Given the description of an element on the screen output the (x, y) to click on. 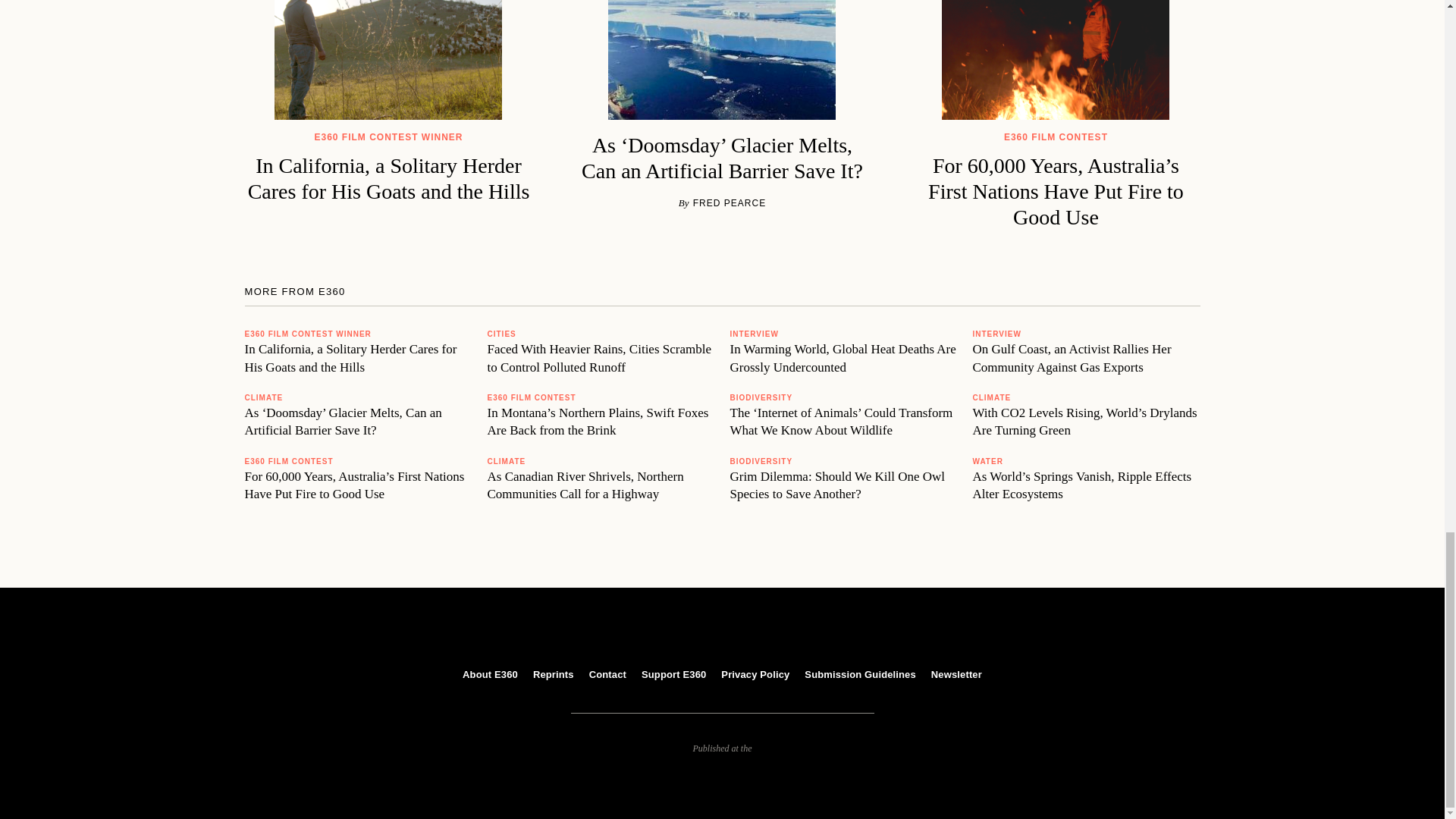
BIODIVERSITY (760, 397)
INTERVIEW (753, 334)
E360 FILM CONTEST (288, 461)
FRED PEARCE (728, 203)
CITIES (500, 334)
E360 FILM CONTEST WINNER (307, 334)
